Given the description of an element on the screen output the (x, y) to click on. 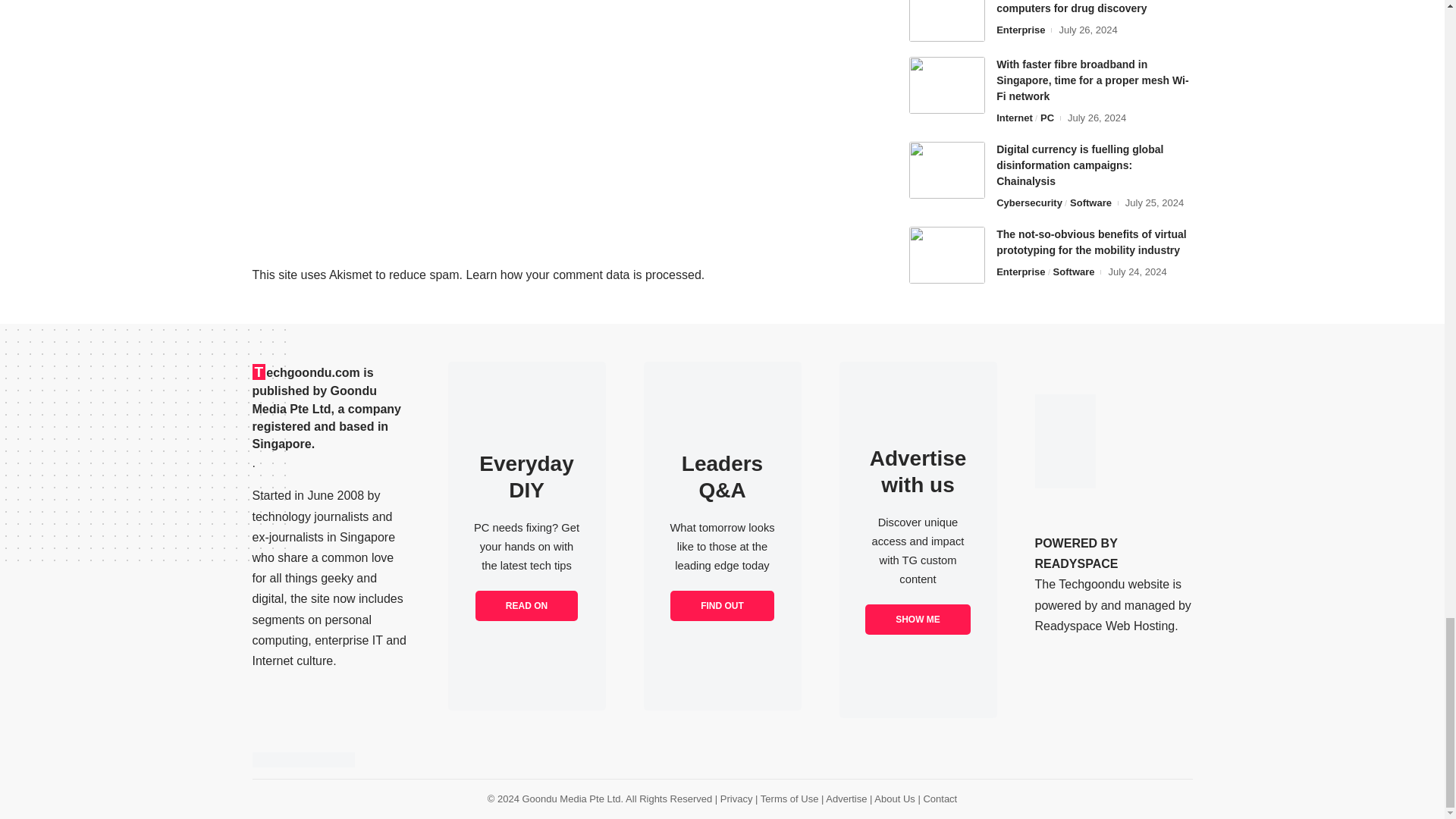
Techgoondu (302, 759)
